Given the description of an element on the screen output the (x, y) to click on. 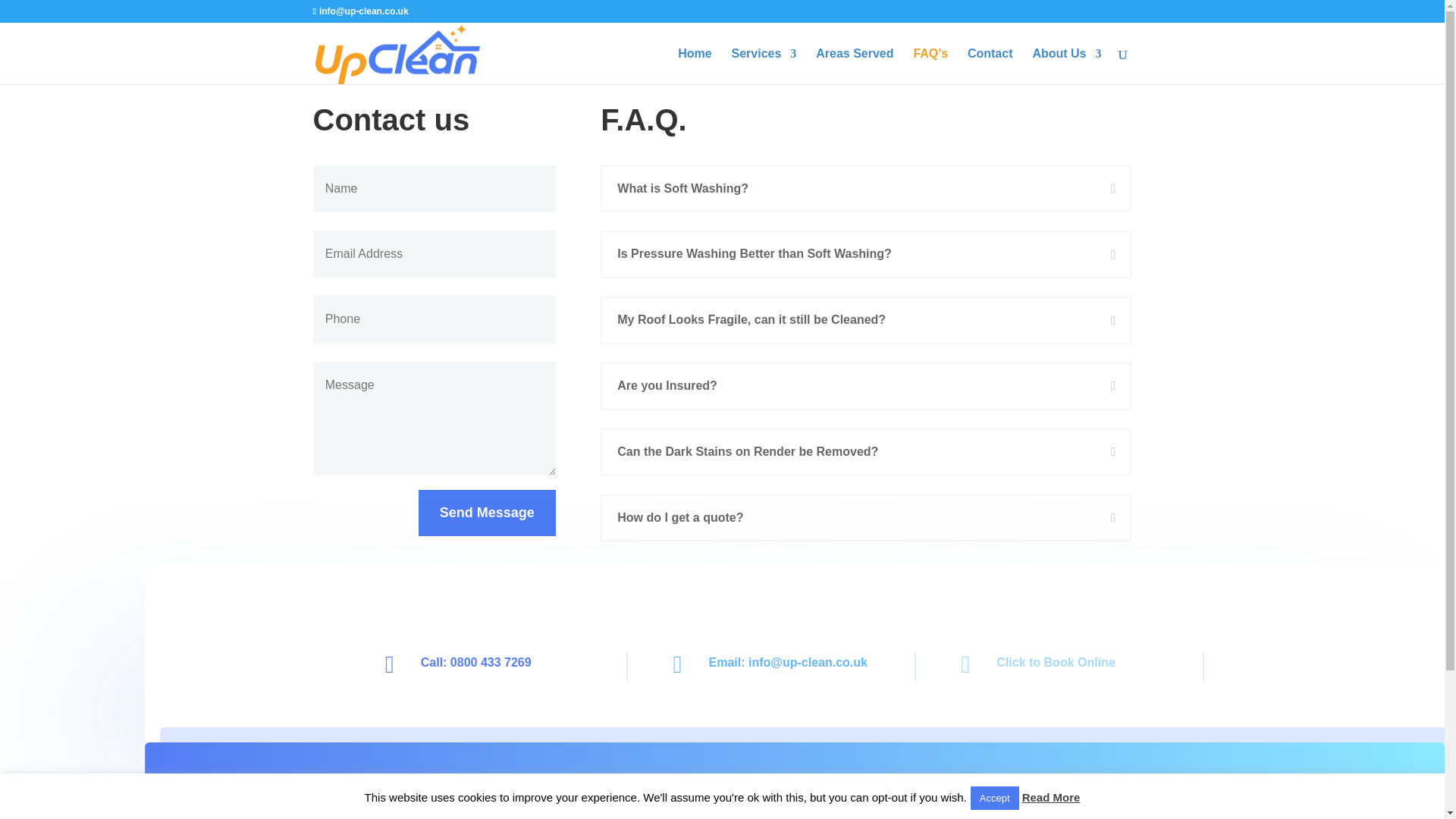
Areas Served (854, 66)
Send Message (487, 512)
About Us (1066, 66)
Home (694, 66)
Services (763, 66)
Only numbers allowed. (434, 319)
Contact (990, 66)
